Given the description of an element on the screen output the (x, y) to click on. 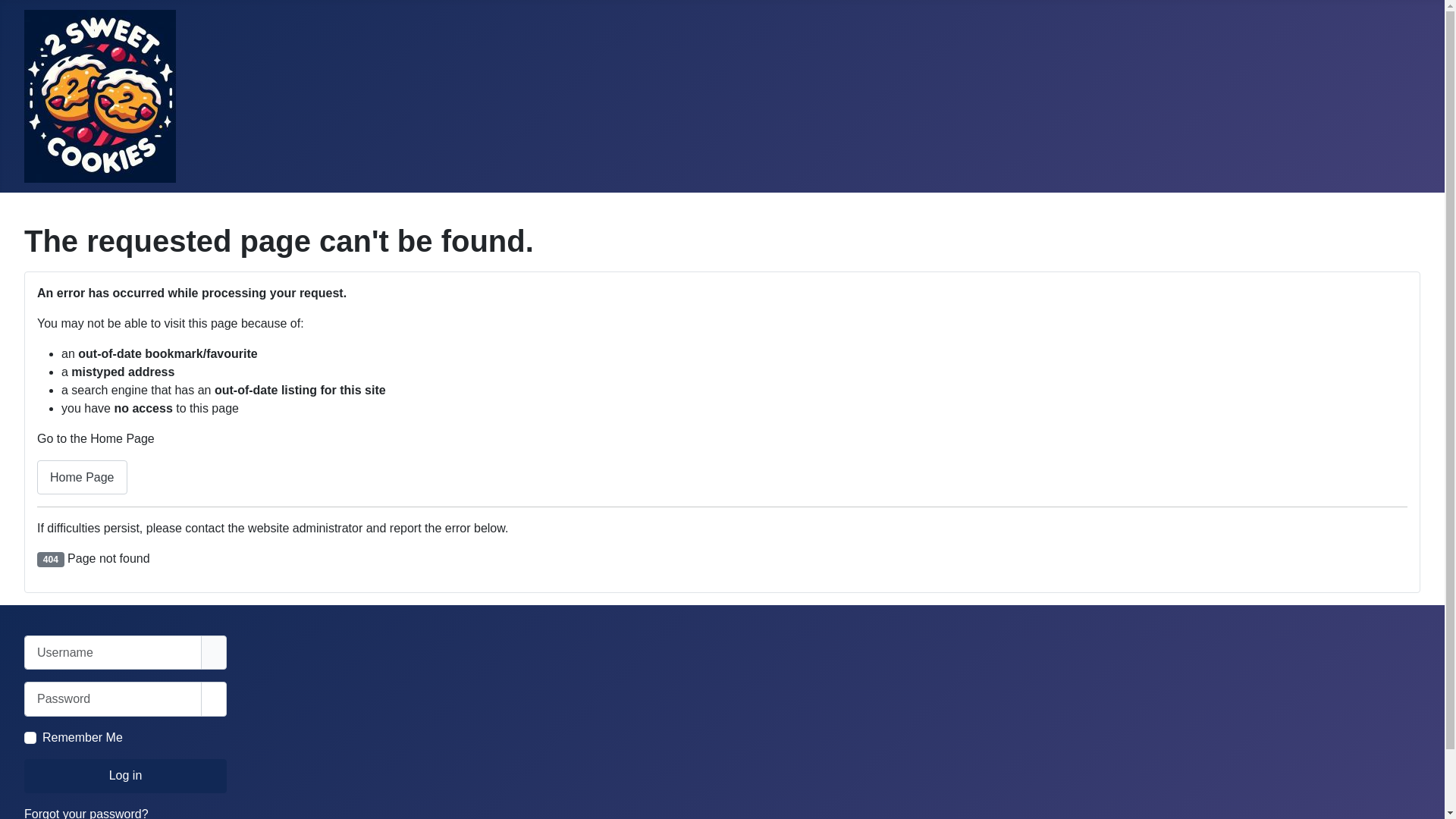
Home Page Element type: text (82, 477)
Log in Element type: text (125, 776)
Username Element type: hover (213, 652)
Show Password Element type: text (213, 698)
